Given the description of an element on the screen output the (x, y) to click on. 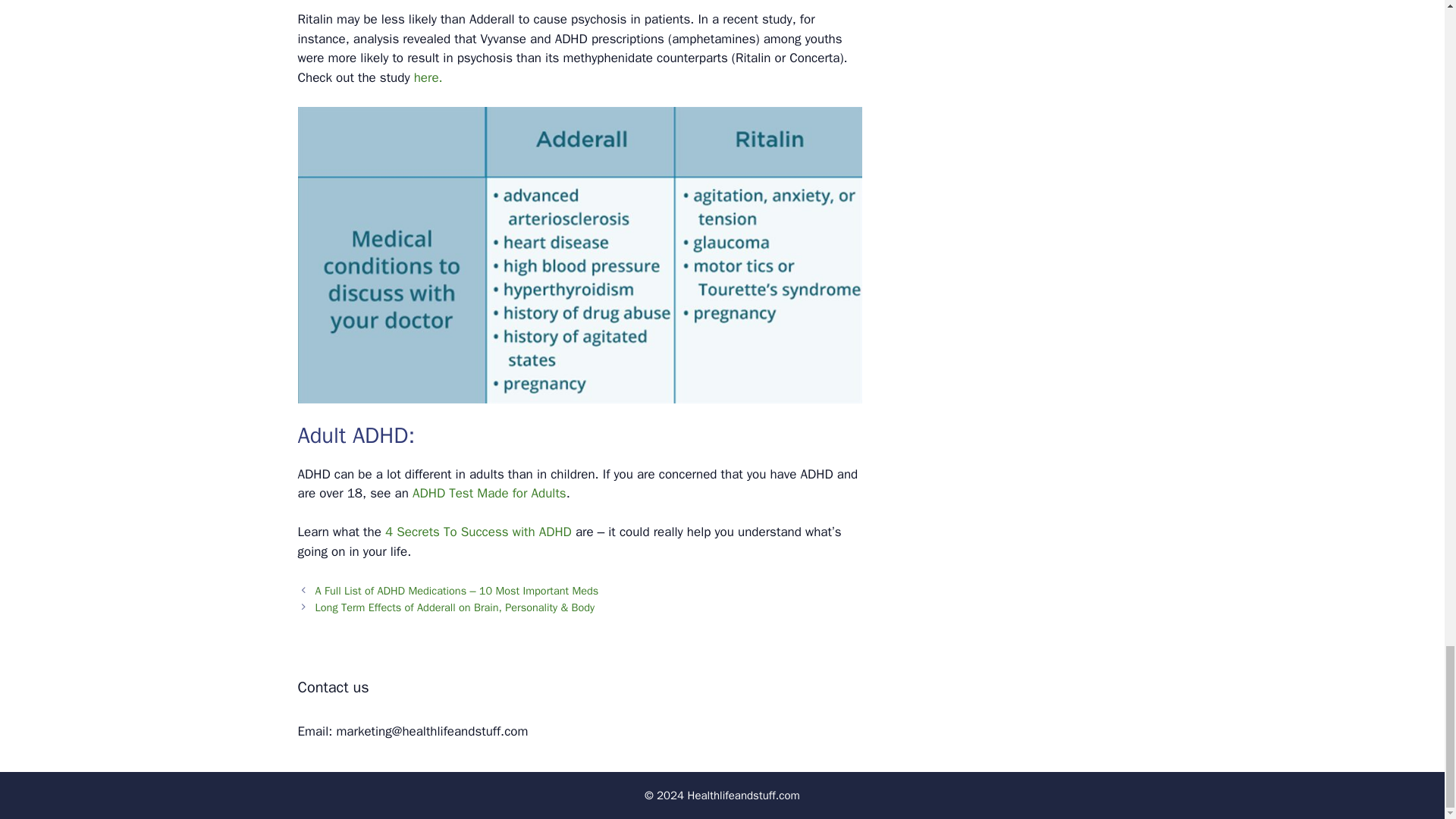
4 Secrets To Success with ADHD (478, 531)
here. (427, 77)
ADHD Test Made for Adults (489, 493)
